Given the description of an element on the screen output the (x, y) to click on. 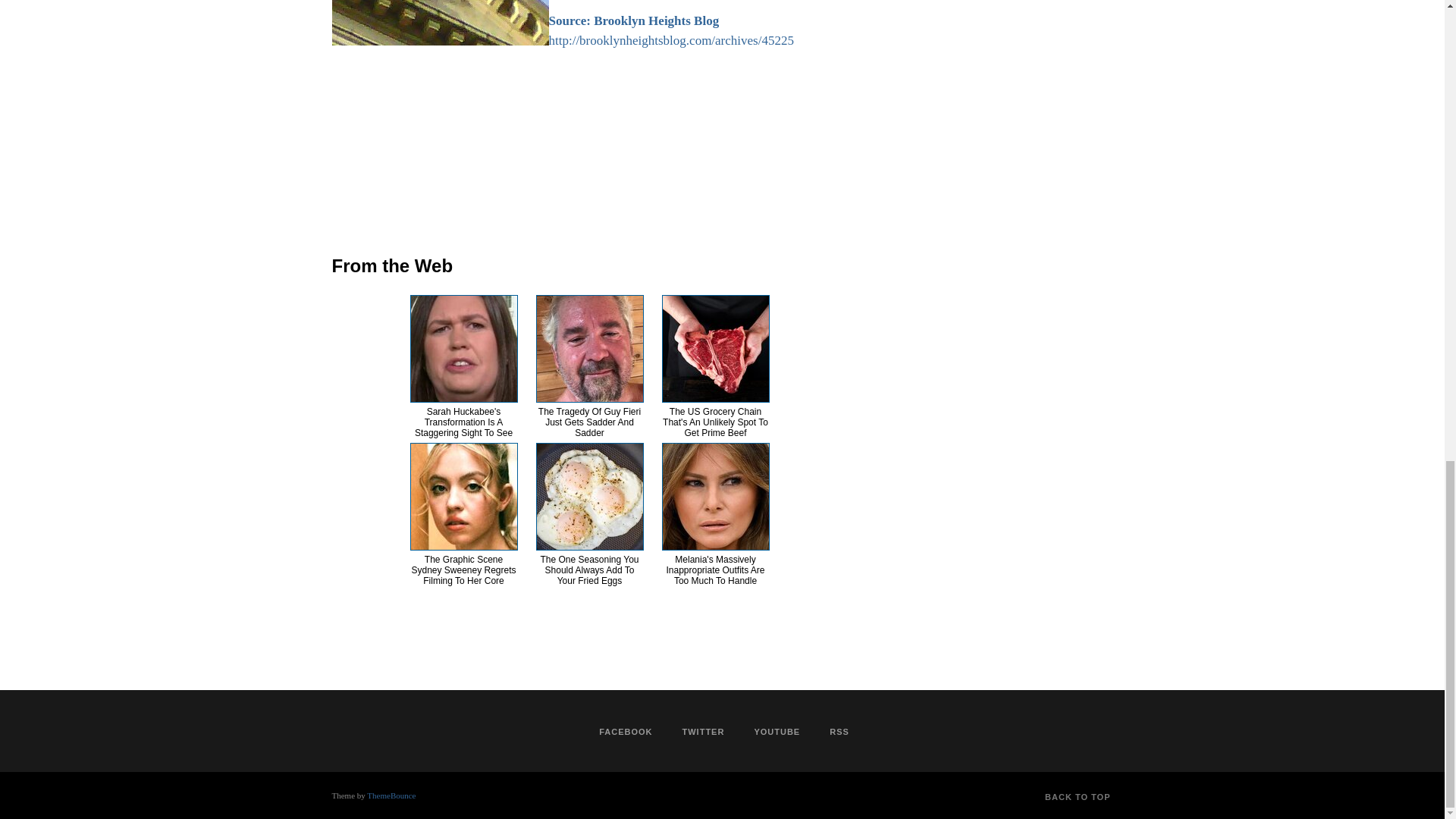
The Graphic Scene Sydney Sweeney Regrets Filming To Her Core (462, 570)
Sarah Huckabee's Transformation Is A Staggering Sight To See (463, 422)
Source: Brooklyn Heights Blog (633, 20)
The One Seasoning You Should Always Add To Your Fried Eggs (589, 570)
The Tragedy Of Guy Fieri Just Gets Sadder And Sadder (589, 422)
